Given the description of an element on the screen output the (x, y) to click on. 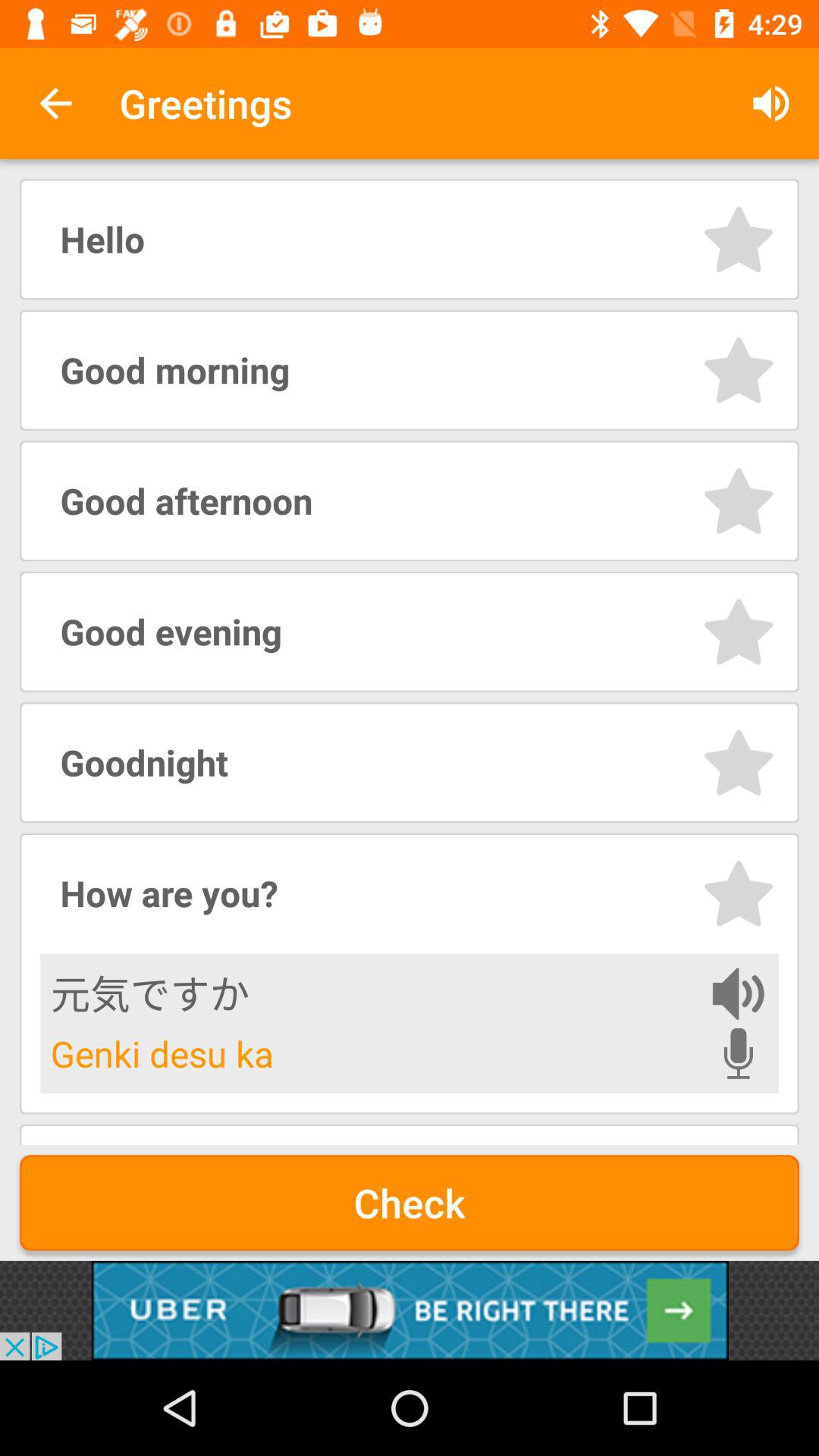
audio (738, 993)
